Given the description of an element on the screen output the (x, y) to click on. 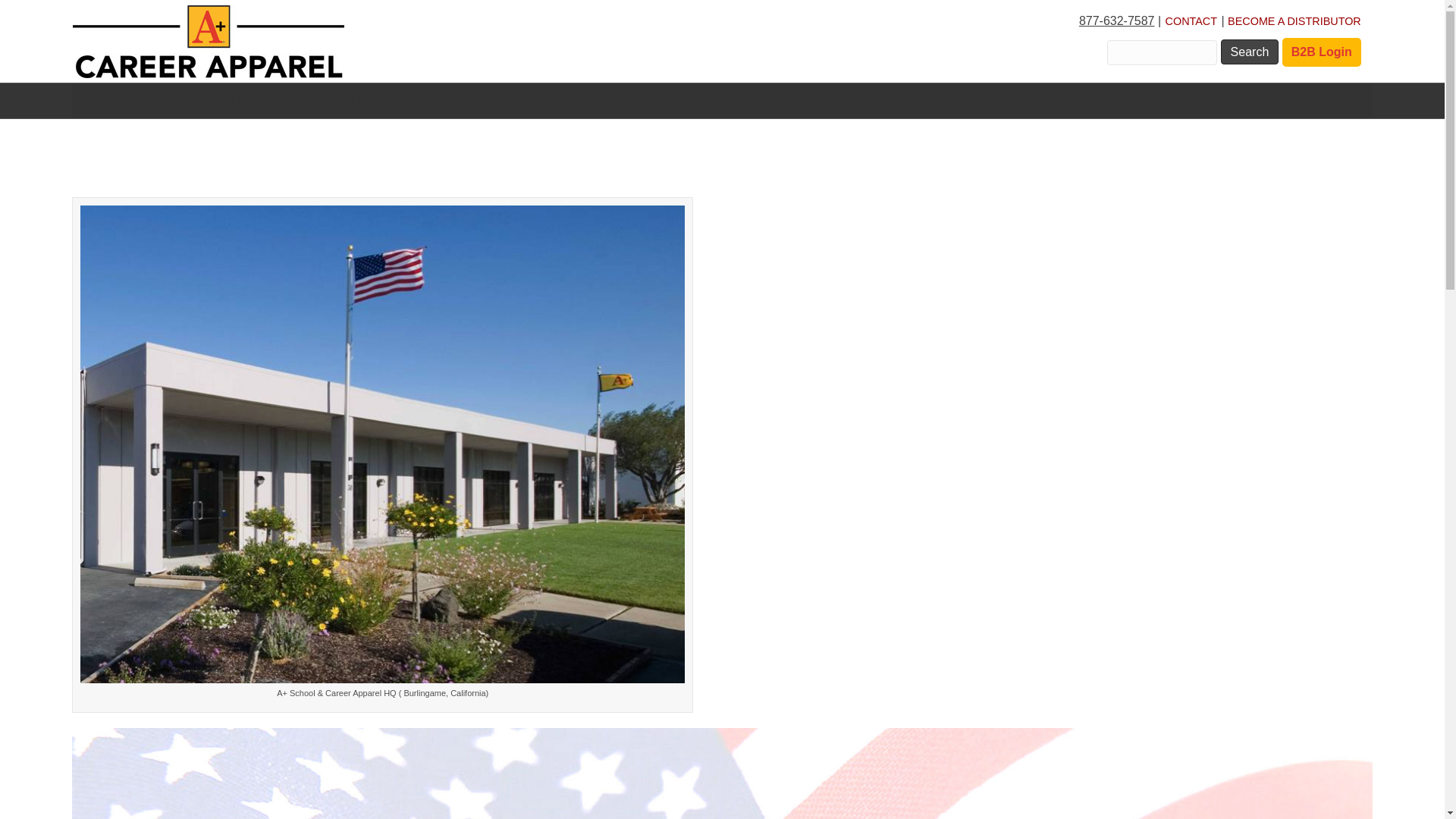
Search (1250, 51)
CONTACT (1191, 21)
Search (1250, 51)
Products by Style (125, 100)
Search (1250, 51)
BECOME A DISTRIBUTOR (1294, 21)
B2B Login (1321, 51)
